Given the description of an element on the screen output the (x, y) to click on. 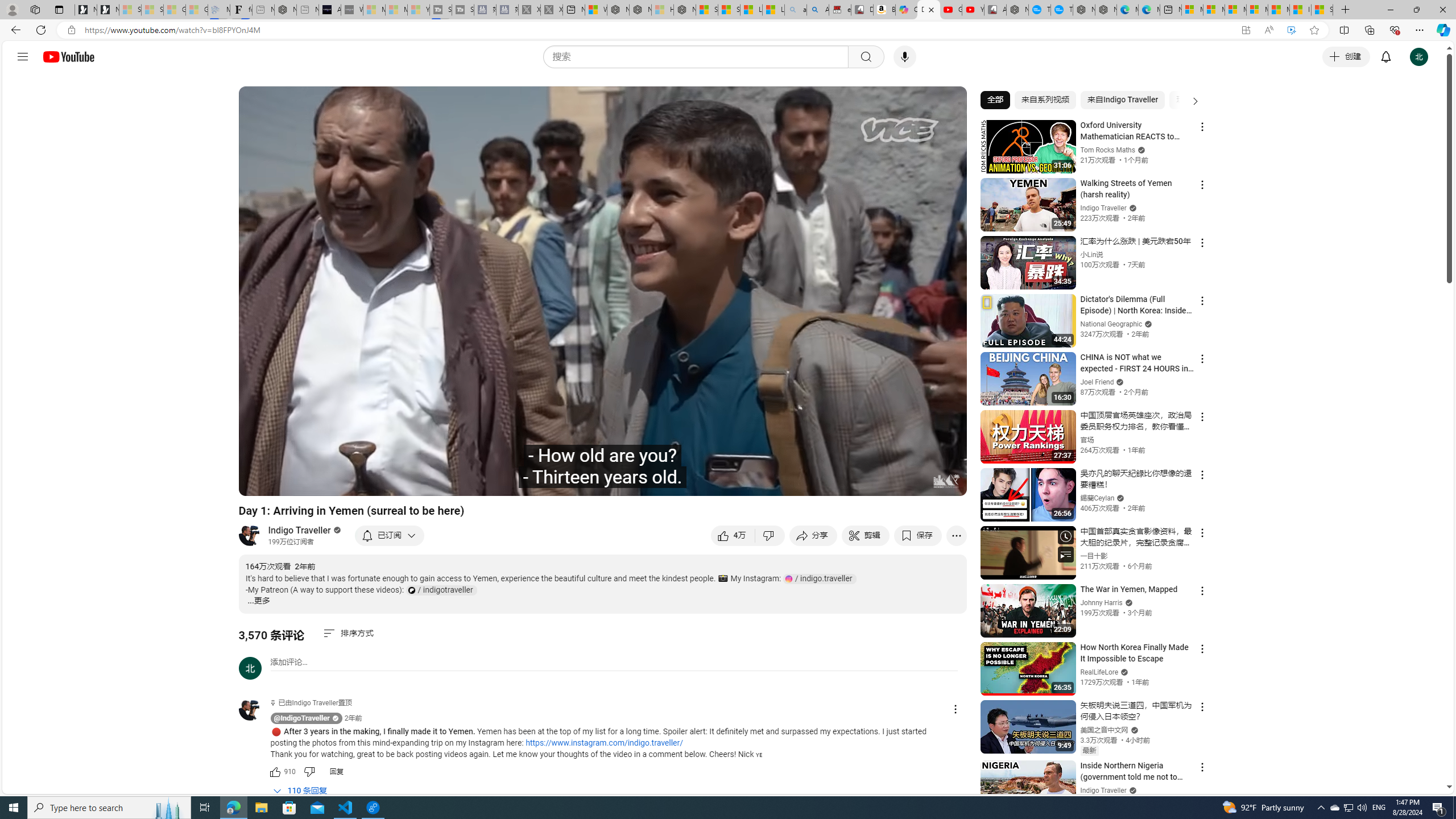
Microsoft account | Microsoft Account Privacy Settings (1214, 9)
https://www.instagram.com/indigo.traveller/ (603, 742)
Nordace - My Account (1017, 9)
Microsoft Start - Sleeping (396, 9)
